Given the description of an element on the screen output the (x, y) to click on. 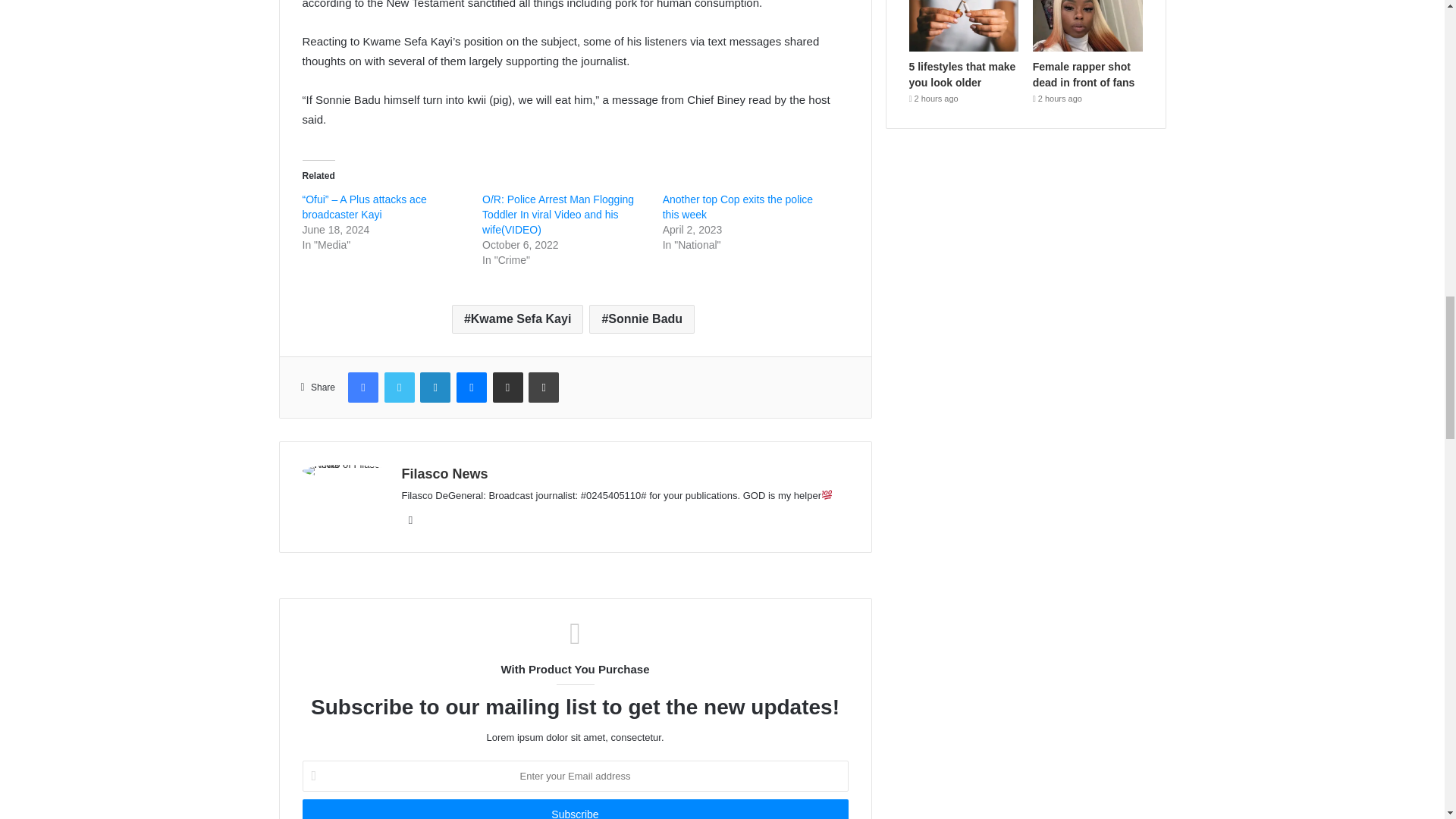
Subscribe (574, 809)
